Given the description of an element on the screen output the (x, y) to click on. 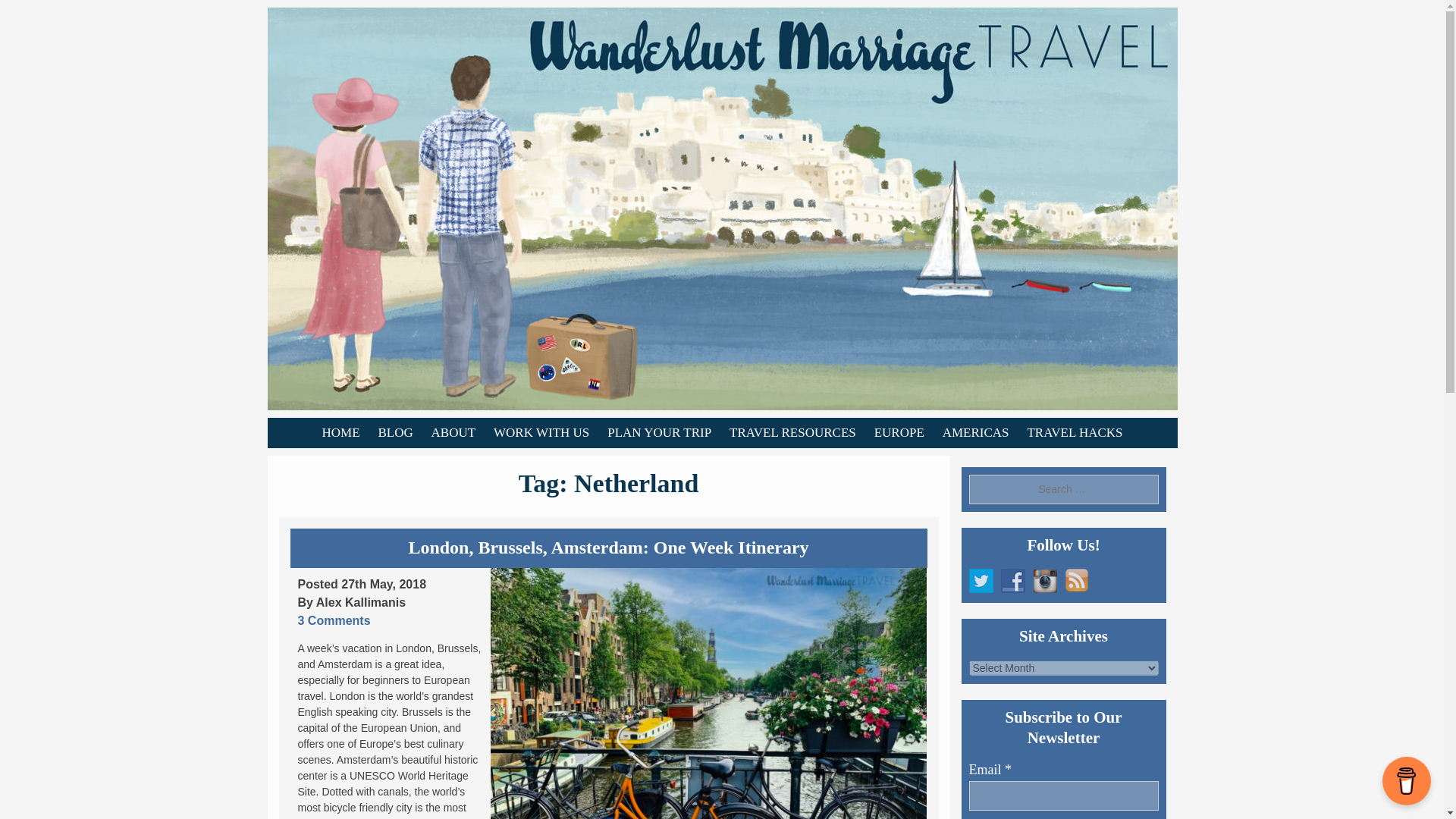
HOME (340, 432)
TRAVEL RESOURCES (792, 432)
AMERICAS (975, 432)
London, Brussels, Amsterdam: One Week Itinerary (708, 693)
Instagram (1044, 580)
Twitter (980, 580)
ABOUT (453, 432)
London, Brussels, Amsterdam: One Week Itinerary (607, 547)
PLAN YOUR TRIP (659, 432)
RSS (1076, 580)
Email (1063, 795)
TRAVEL HACKS (1074, 432)
3 Comments (333, 620)
WORK WITH US (541, 432)
BLOG (394, 432)
